Given the description of an element on the screen output the (x, y) to click on. 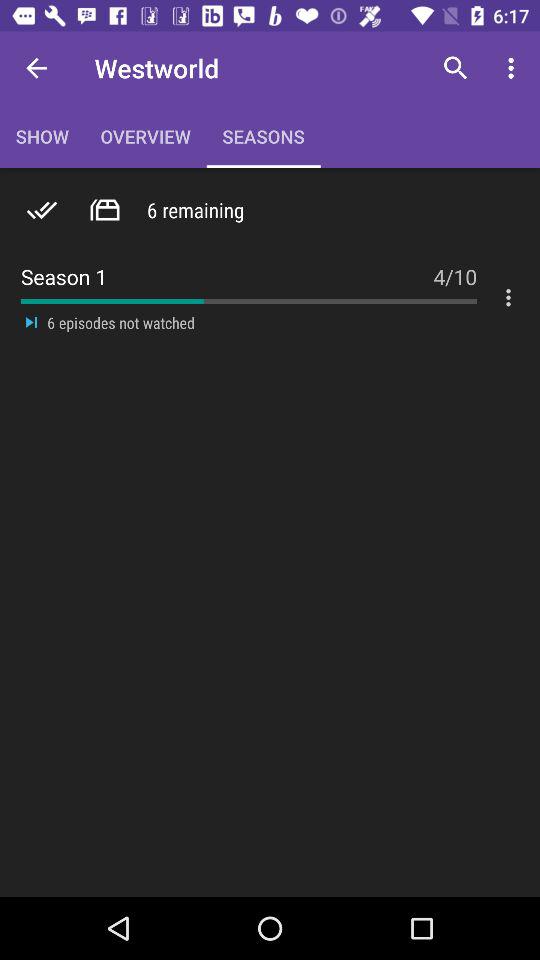
open the item next to the season 1 item (454, 265)
